Given the description of an element on the screen output the (x, y) to click on. 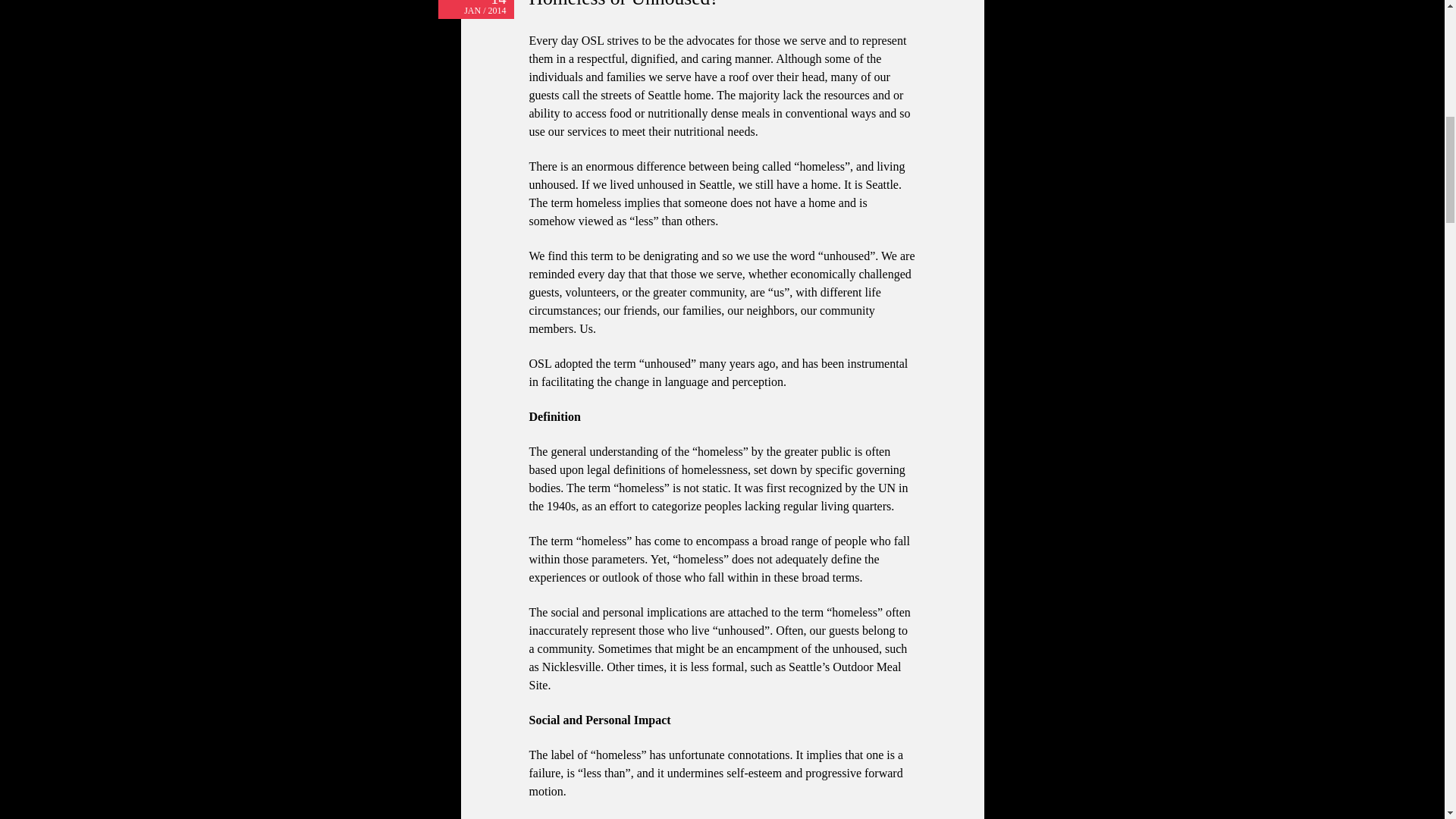
Permalink to Homeless or Unhoused? (475, 9)
Homeless or Unhoused? (624, 4)
Permalink to Homeless or Unhoused? (624, 4)
